Given the description of an element on the screen output the (x, y) to click on. 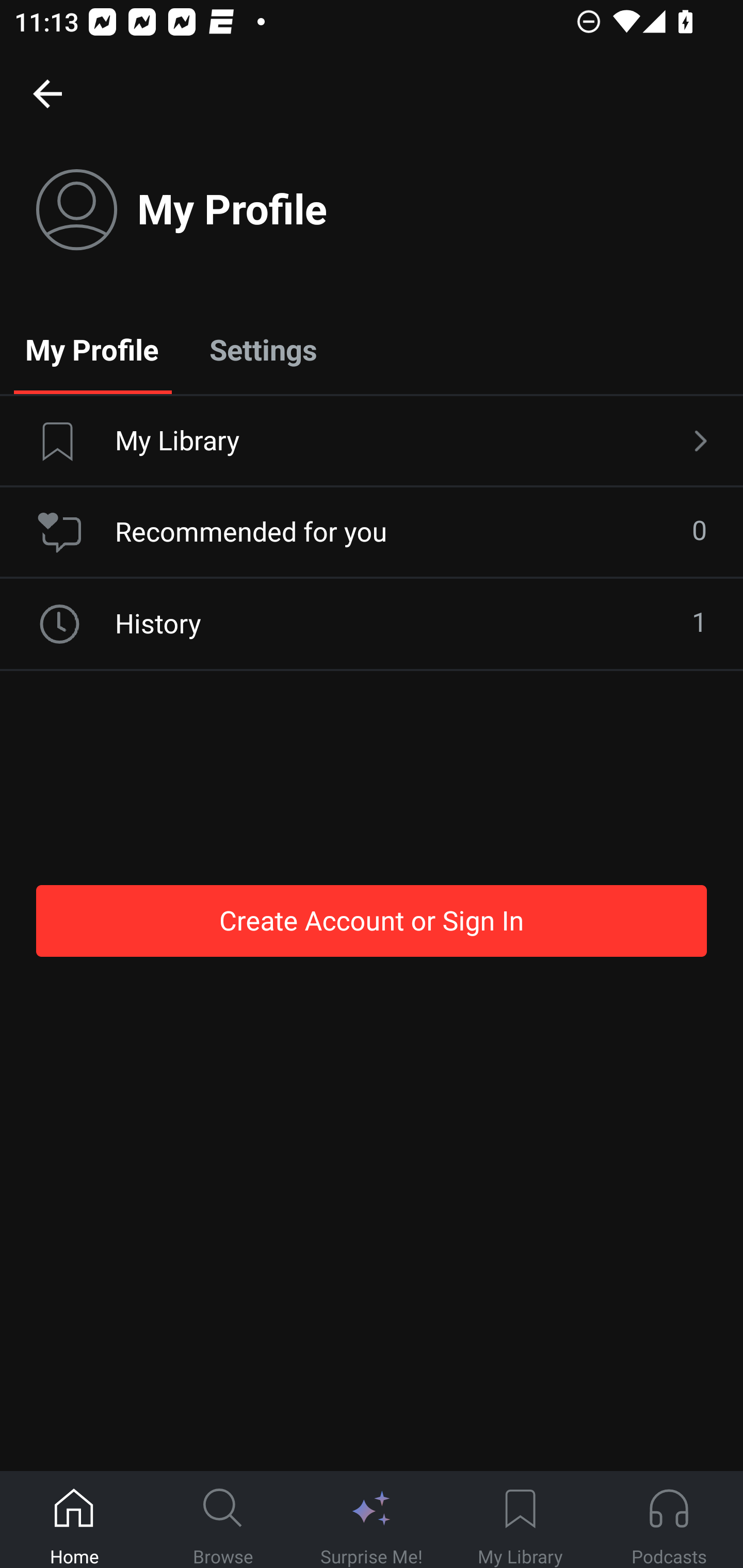
Home, back (47, 92)
My Profile (92, 348)
Settings (263, 348)
My Library (371, 441)
Recommended for you 0 (371, 532)
History 1 (371, 623)
Create Account or Sign In (371, 920)
Home (74, 1520)
Browse (222, 1520)
Surprise Me! (371, 1520)
My Library (519, 1520)
Podcasts (668, 1520)
